Given the description of an element on the screen output the (x, y) to click on. 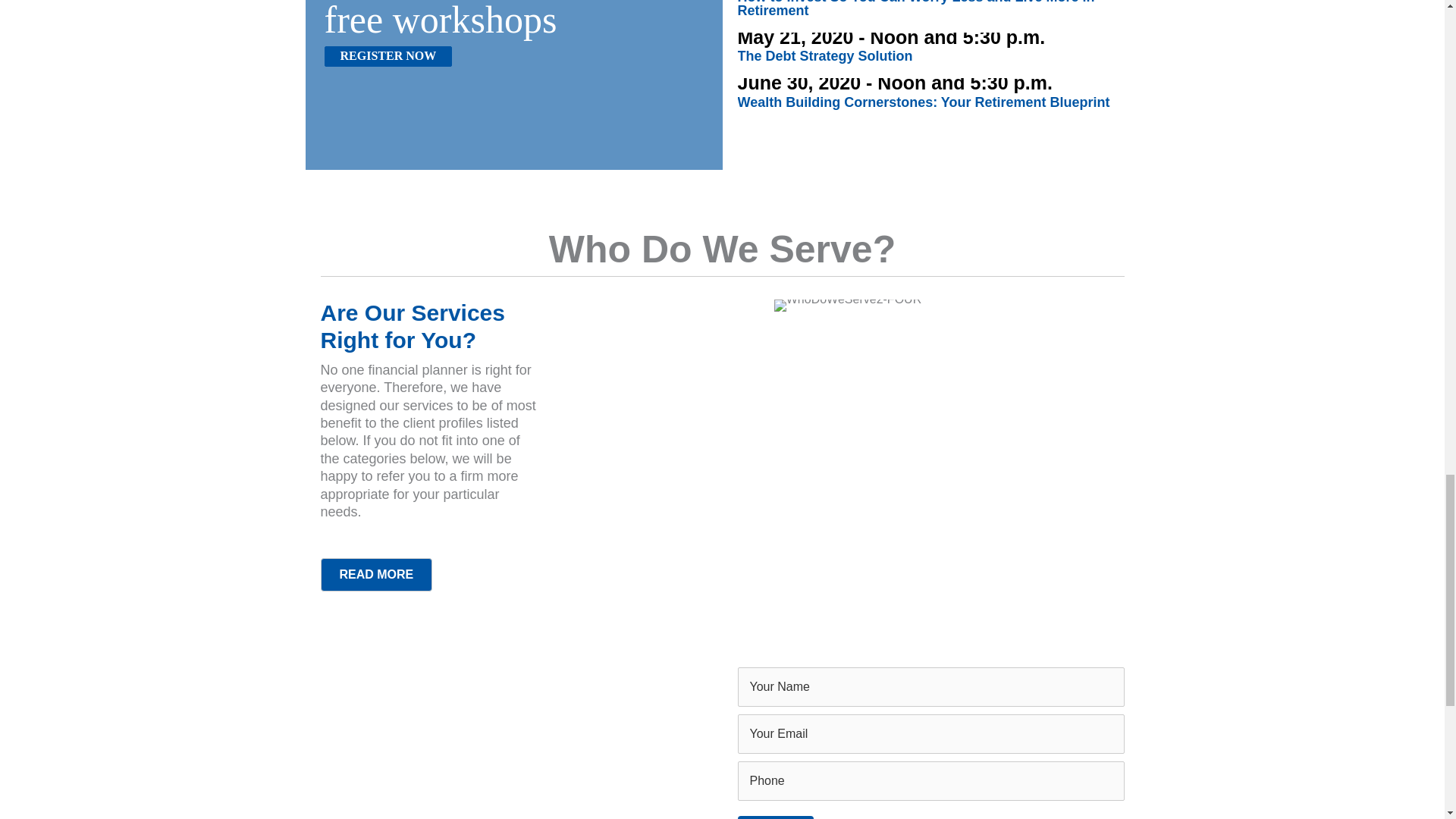
WhoDoWeServe2-FOUR (847, 305)
Click Here (388, 55)
REGISTER NOW (388, 55)
